Given the description of an element on the screen output the (x, y) to click on. 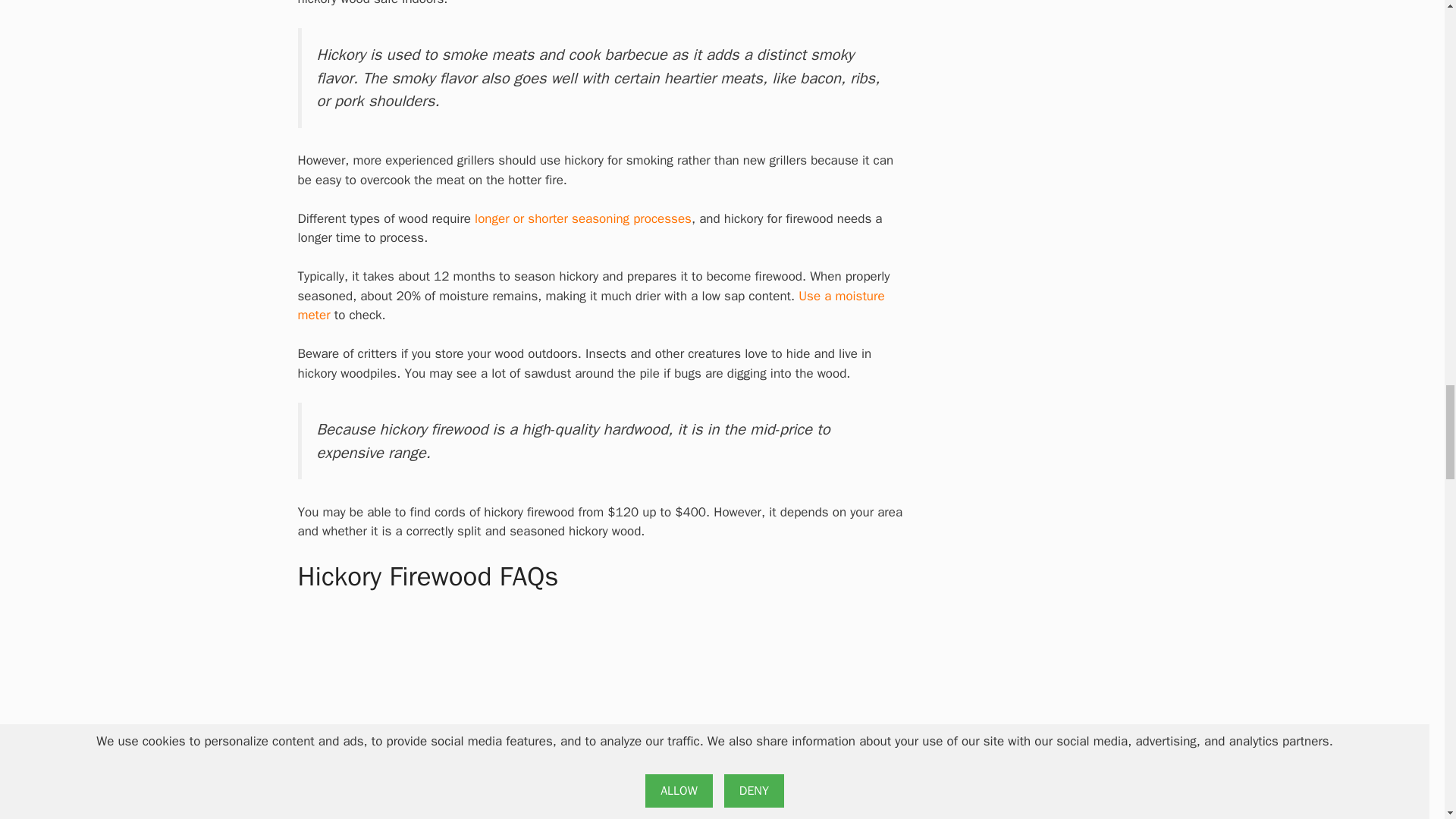
longer or shorter seasoning processes (582, 218)
Use a moisture meter (590, 305)
